Given the description of an element on the screen output the (x, y) to click on. 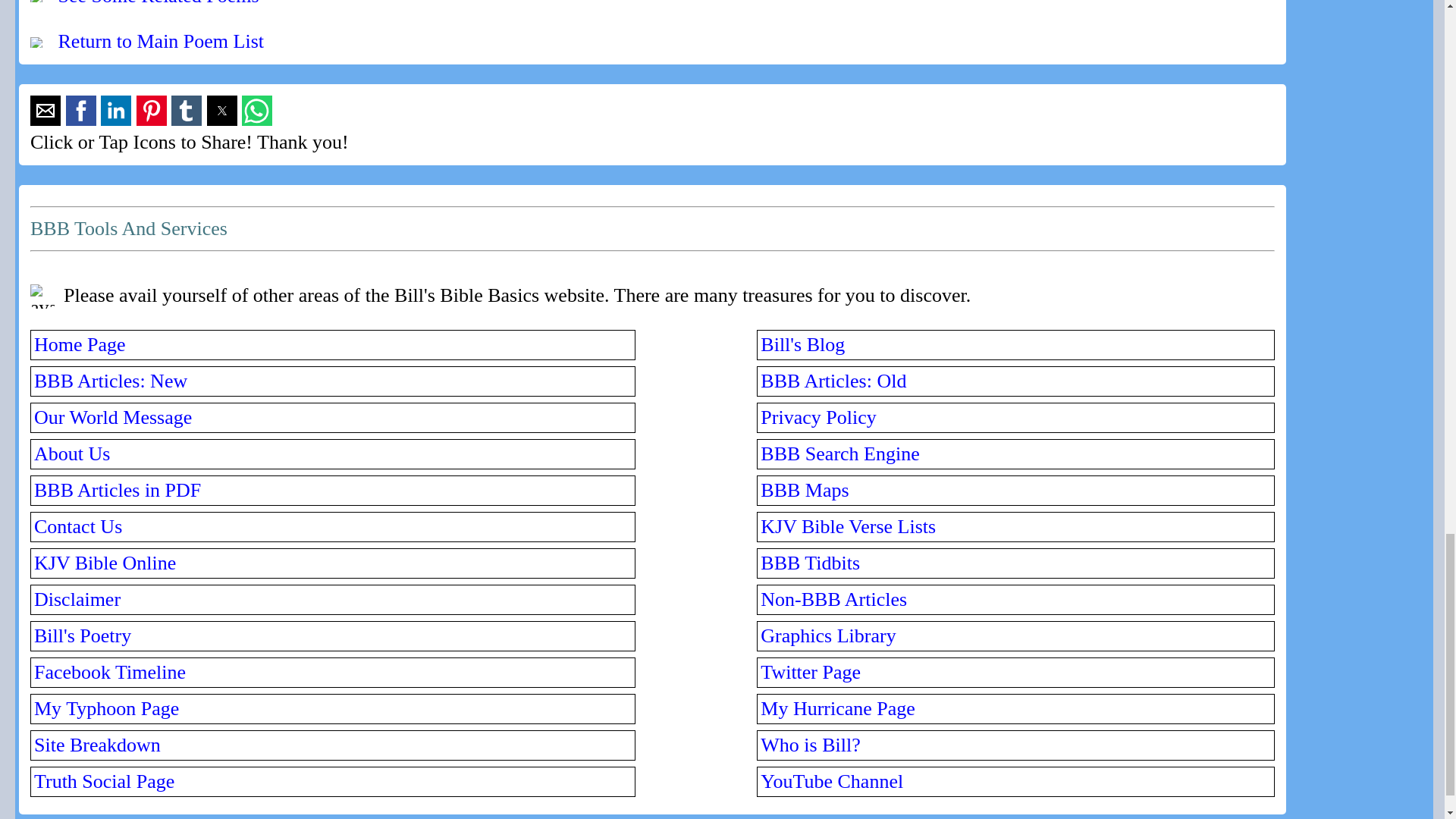
BBB Articles in PDF (116, 490)
Who is Bill? (810, 744)
Bill's Bible Basics Articles: New or Updated (110, 381)
Disclaimer (76, 599)
Facebook Timeline (109, 671)
Bill's Poetry (82, 635)
My Typhoon Page (106, 708)
Home Page (79, 344)
BBB Tidbits (810, 563)
Our World Message (112, 417)
